Given the description of an element on the screen output the (x, y) to click on. 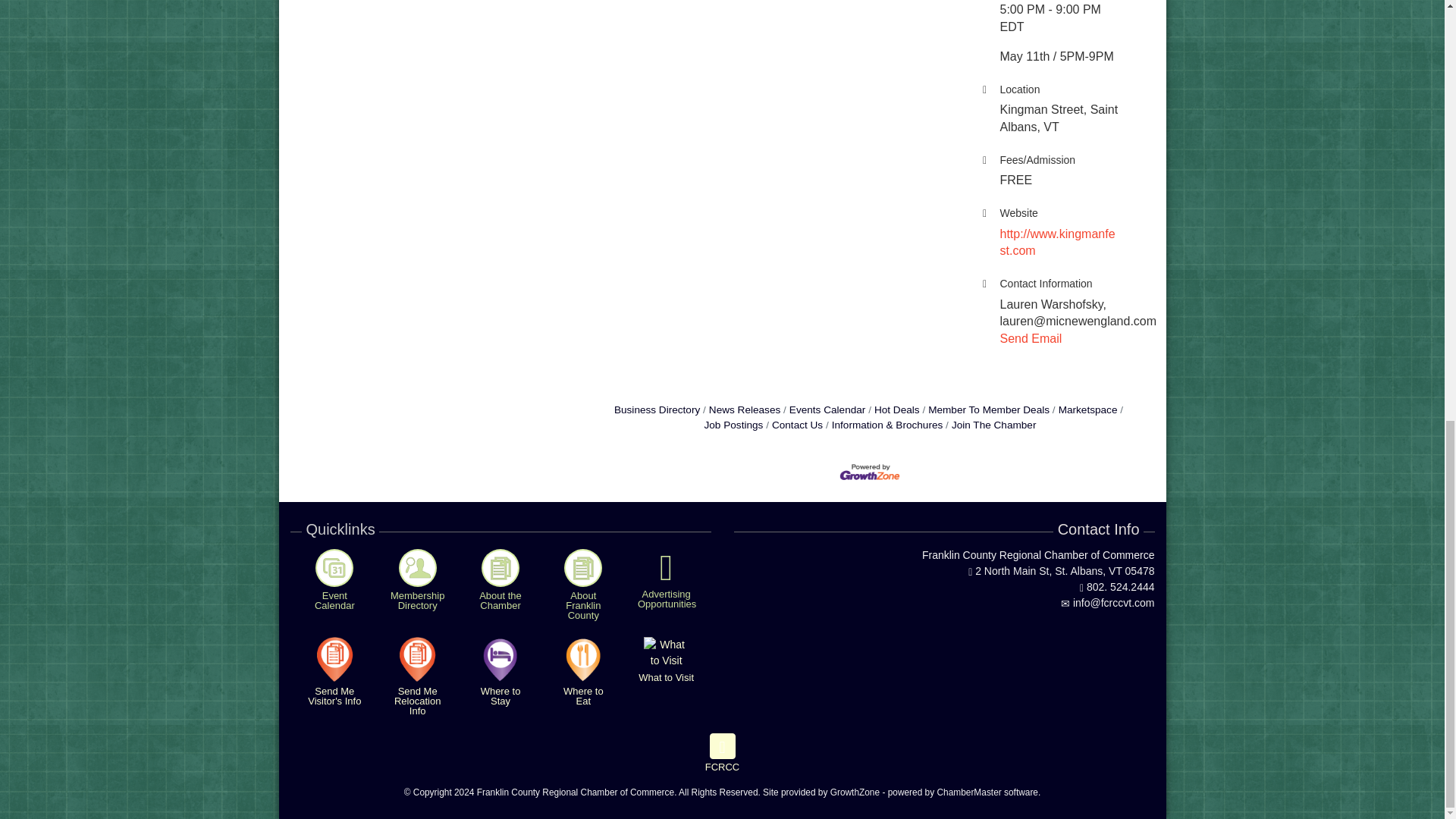
About the Chamber (500, 567)
About Franklin County (583, 567)
 Event Calendar (334, 567)
Membership Directory (417, 567)
